Given the description of an element on the screen output the (x, y) to click on. 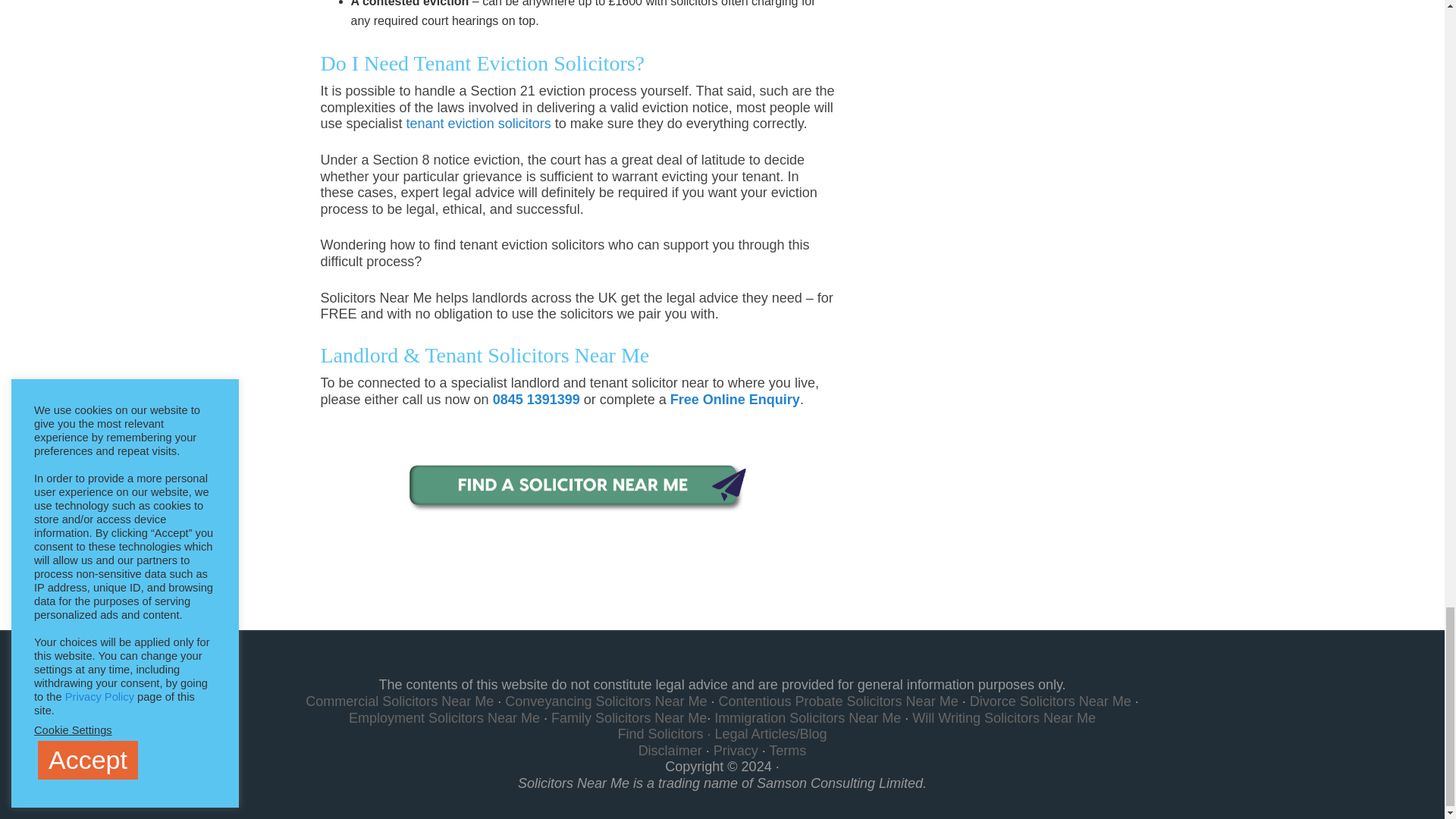
Tenant Eviction Specialists (578, 487)
